Given the description of an element on the screen output the (x, y) to click on. 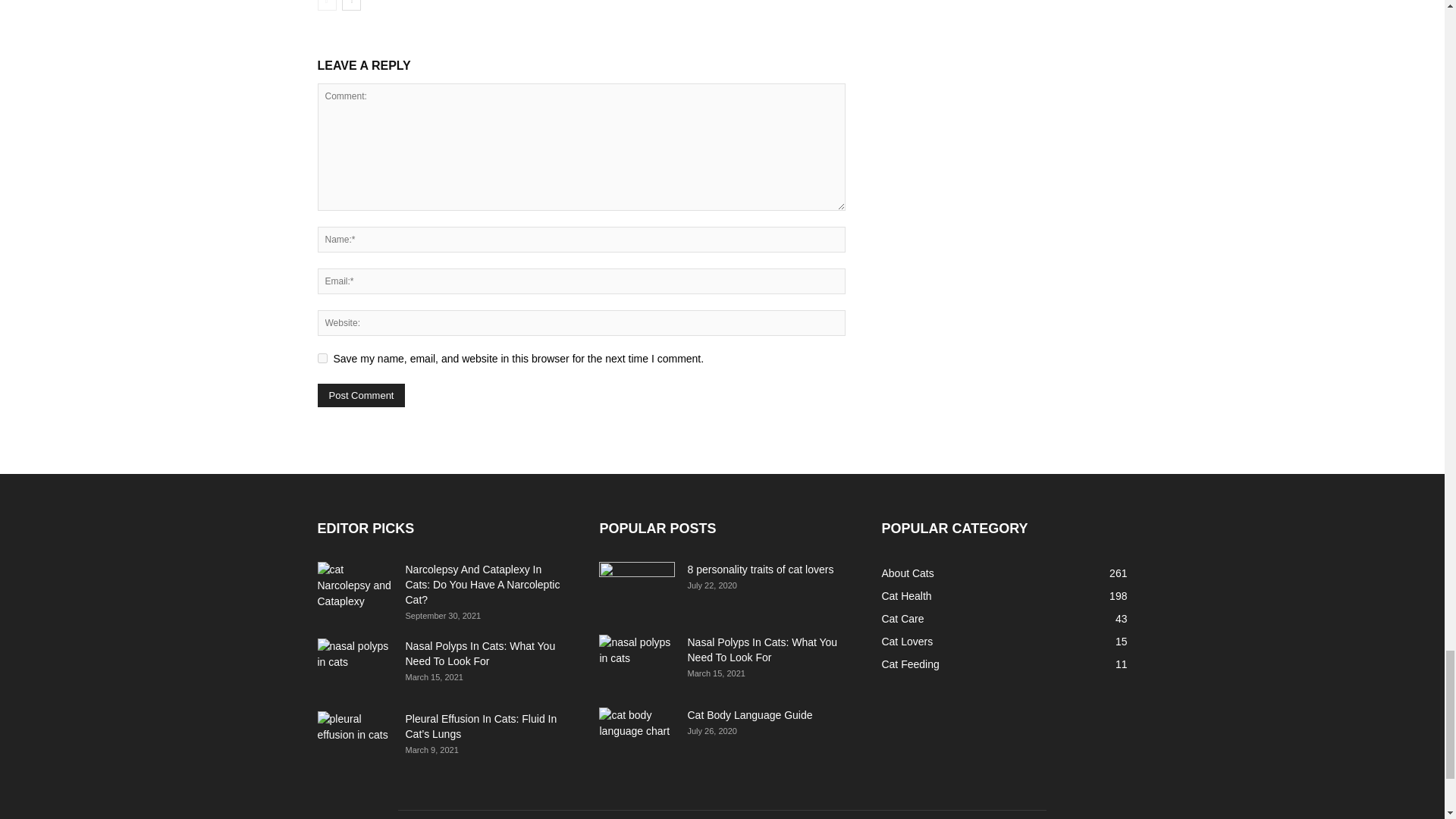
Post Comment (360, 395)
yes (321, 357)
